Given the description of an element on the screen output the (x, y) to click on. 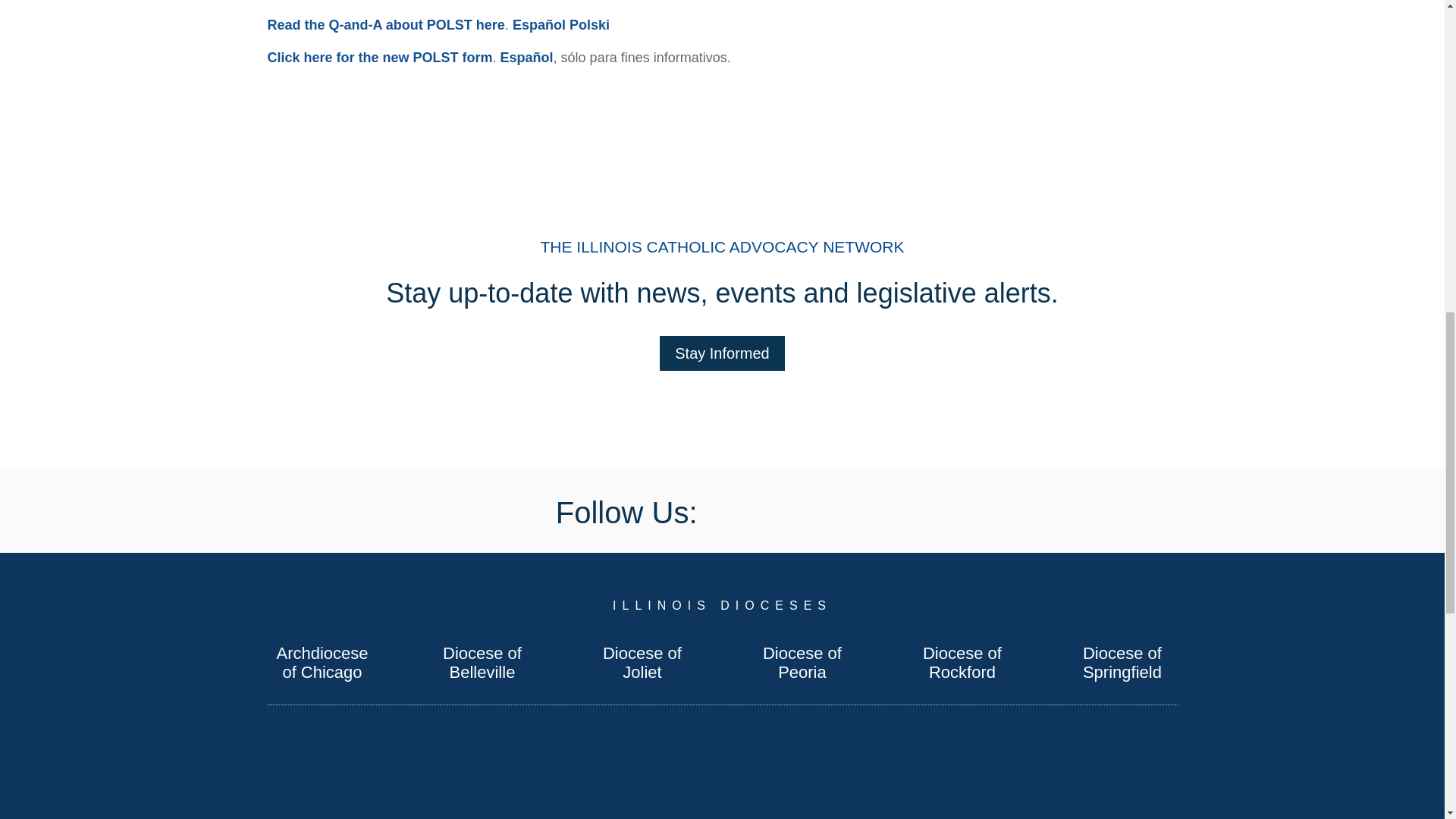
Click here for the new POLST form (379, 57)
Polski (589, 24)
Read the Q-and-A about POLST here (384, 24)
Stay Informed (721, 353)
